Given the description of an element on the screen output the (x, y) to click on. 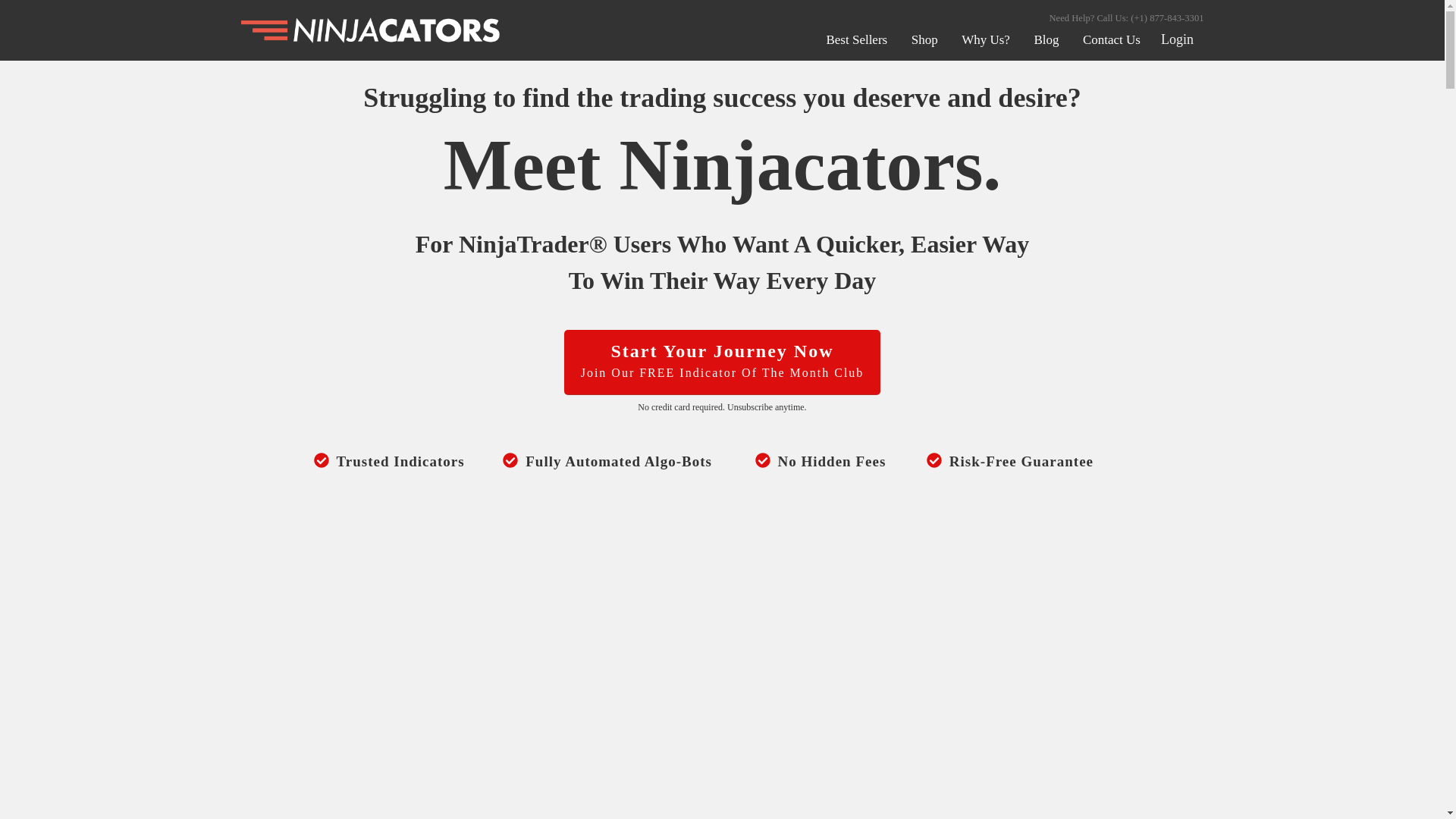
Contact Us (1111, 39)
Shop (924, 39)
Why Us? (985, 39)
Blog (1045, 39)
Best Sellers (855, 39)
